Given the description of an element on the screen output the (x, y) to click on. 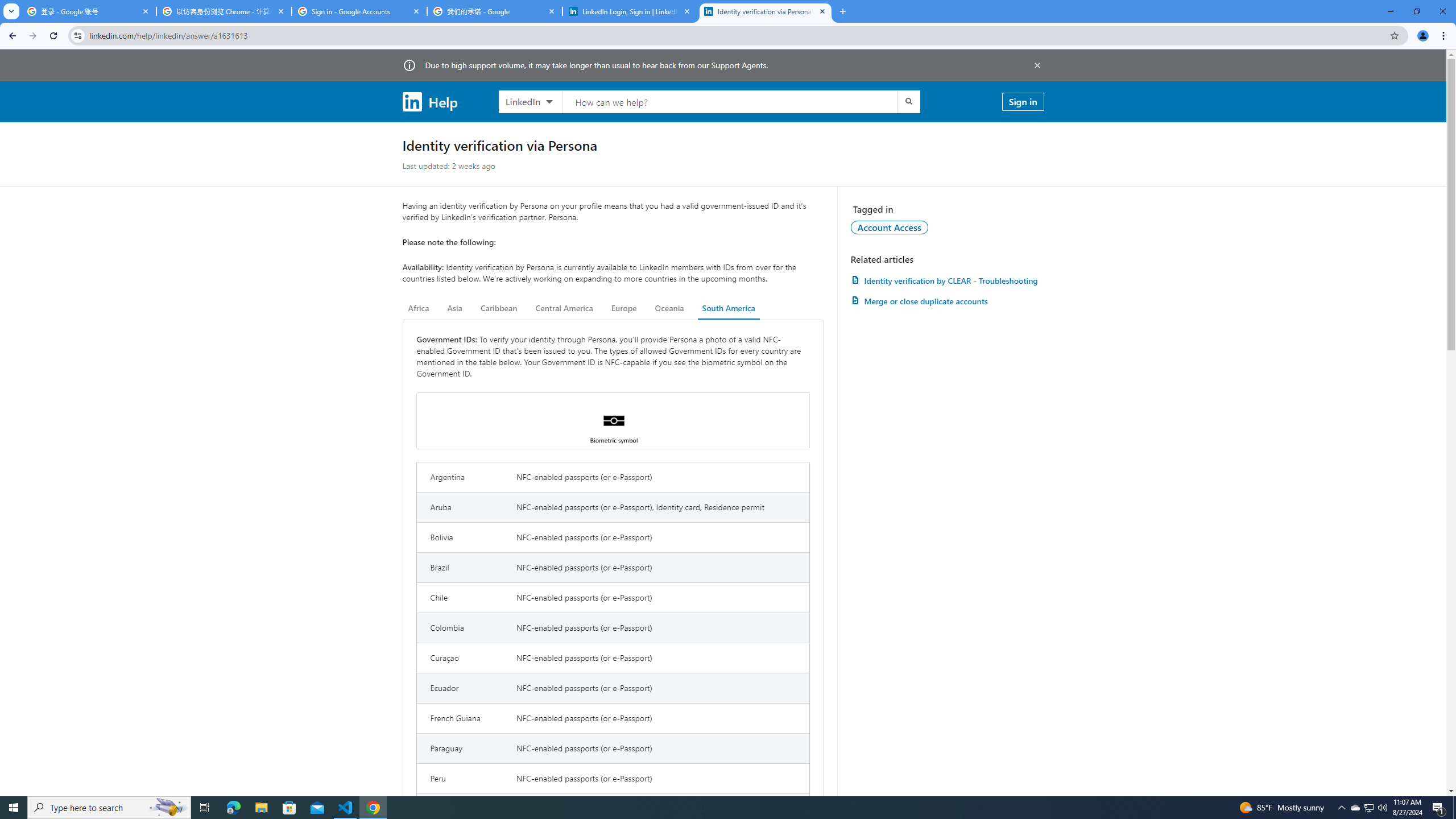
Europe (623, 308)
Biometric symbol (612, 420)
AutomationID: topic-link-a151002 (889, 227)
LinkedIn Login, Sign in | LinkedIn (630, 11)
LinkedIn products to search, LinkedIn selected (530, 101)
